Given the description of an element on the screen output the (x, y) to click on. 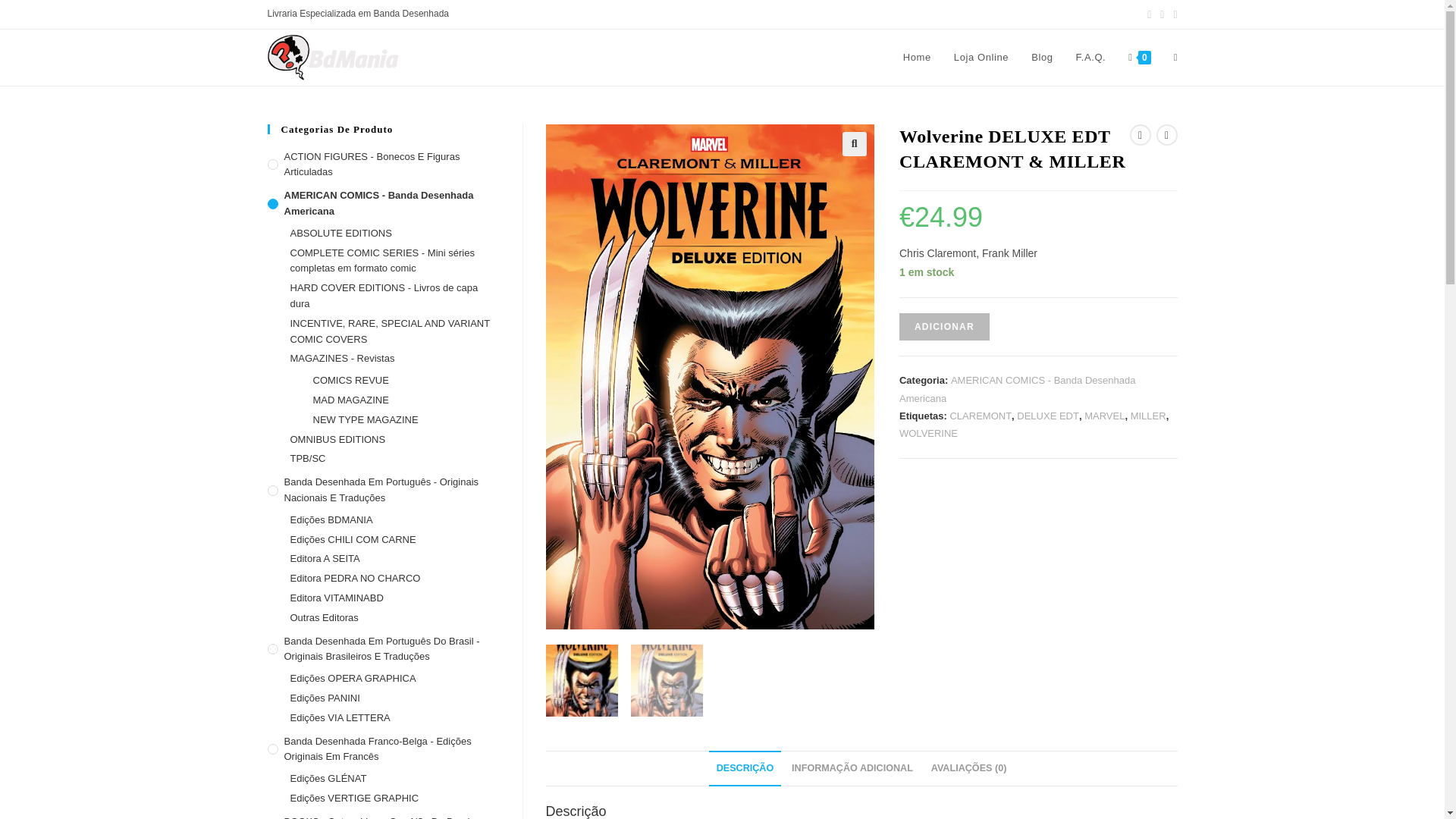
Loja Online (981, 57)
Home (916, 57)
MILLER (1148, 415)
CLAREMONT (980, 415)
AMERICAN COMICS - Banda Desenhada Americana (1017, 388)
DELUXE EDT (1047, 415)
F.A.Q. (1091, 57)
WOLVERINE (928, 432)
MARVEL (1104, 415)
14383 (1111, 24)
ADICIONAR (944, 326)
